Given the description of an element on the screen output the (x, y) to click on. 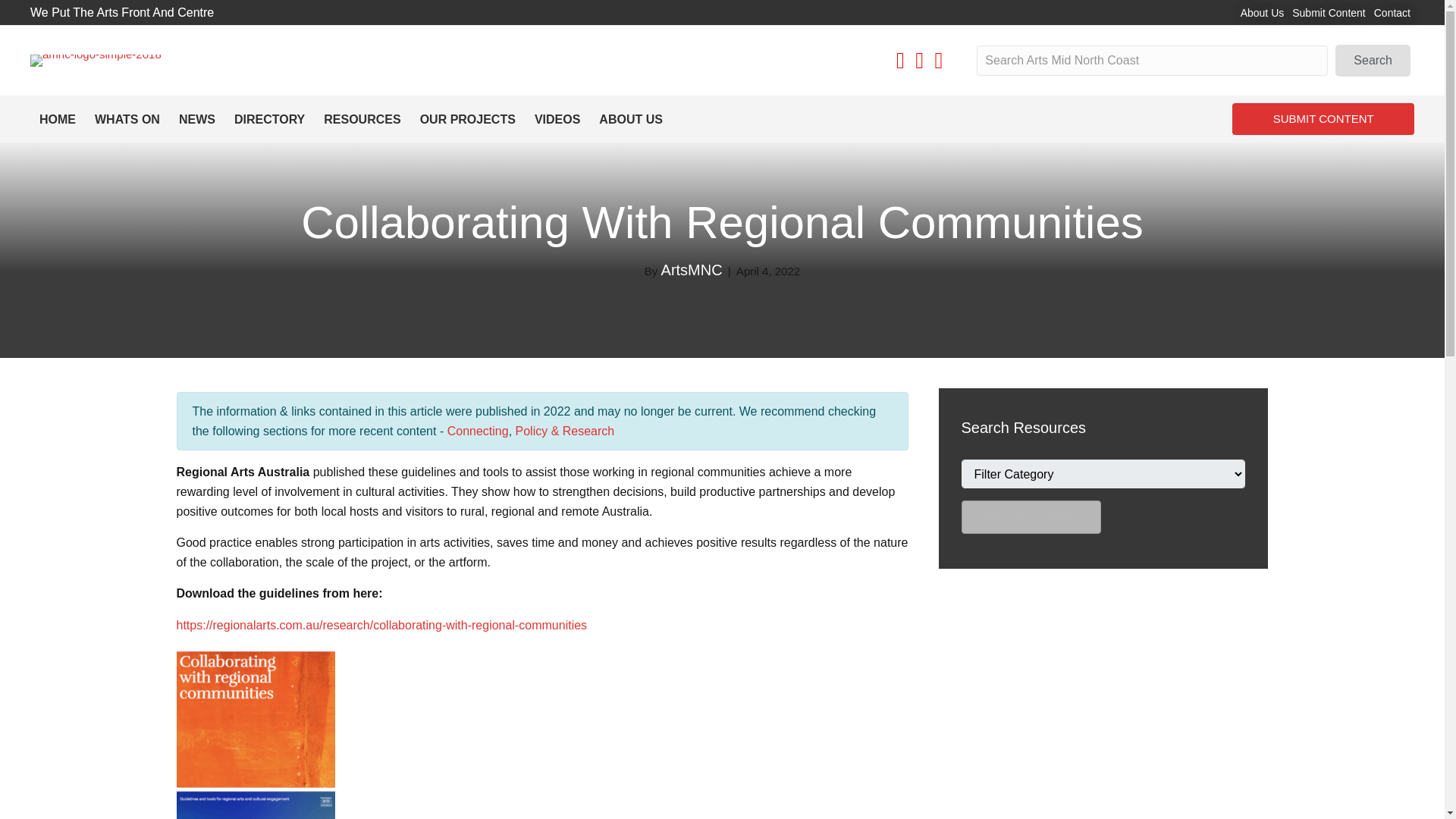
ArtsMNC (691, 269)
RESOURCES (361, 119)
SUBMIT CONTENT (1322, 119)
WHATS ON (126, 119)
Collaborating With Regional Communities (721, 222)
Collaborating with Regional Communities (721, 222)
About Us (1262, 12)
NEWS (197, 119)
HOME (57, 119)
amnc-logo-simple-2018 (95, 60)
